Given the description of an element on the screen output the (x, y) to click on. 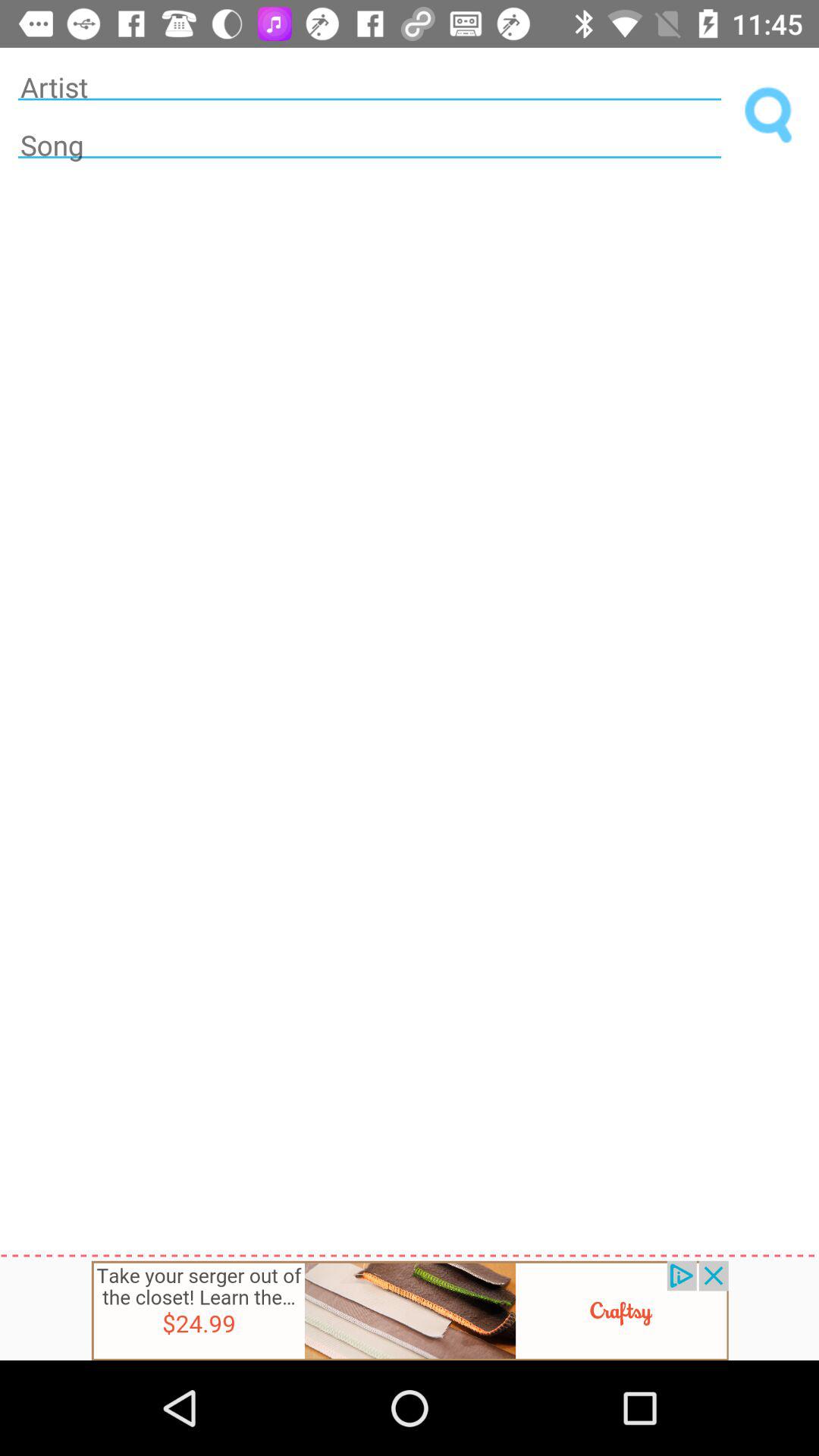
type the naem of the artist (369, 87)
